Given the description of an element on the screen output the (x, y) to click on. 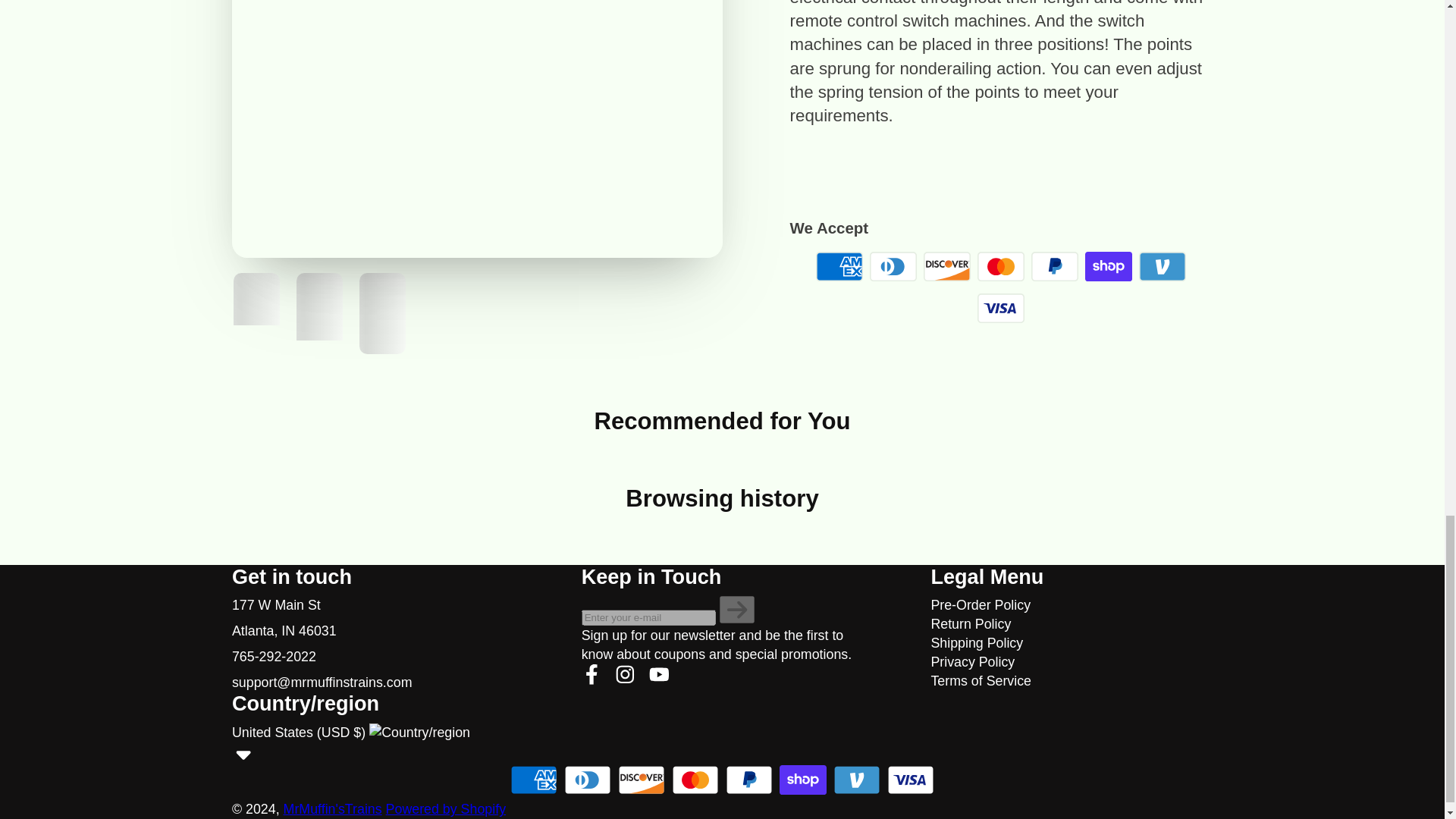
American Express (839, 266)
Discover (947, 266)
Diners Club (893, 266)
